Given the description of an element on the screen output the (x, y) to click on. 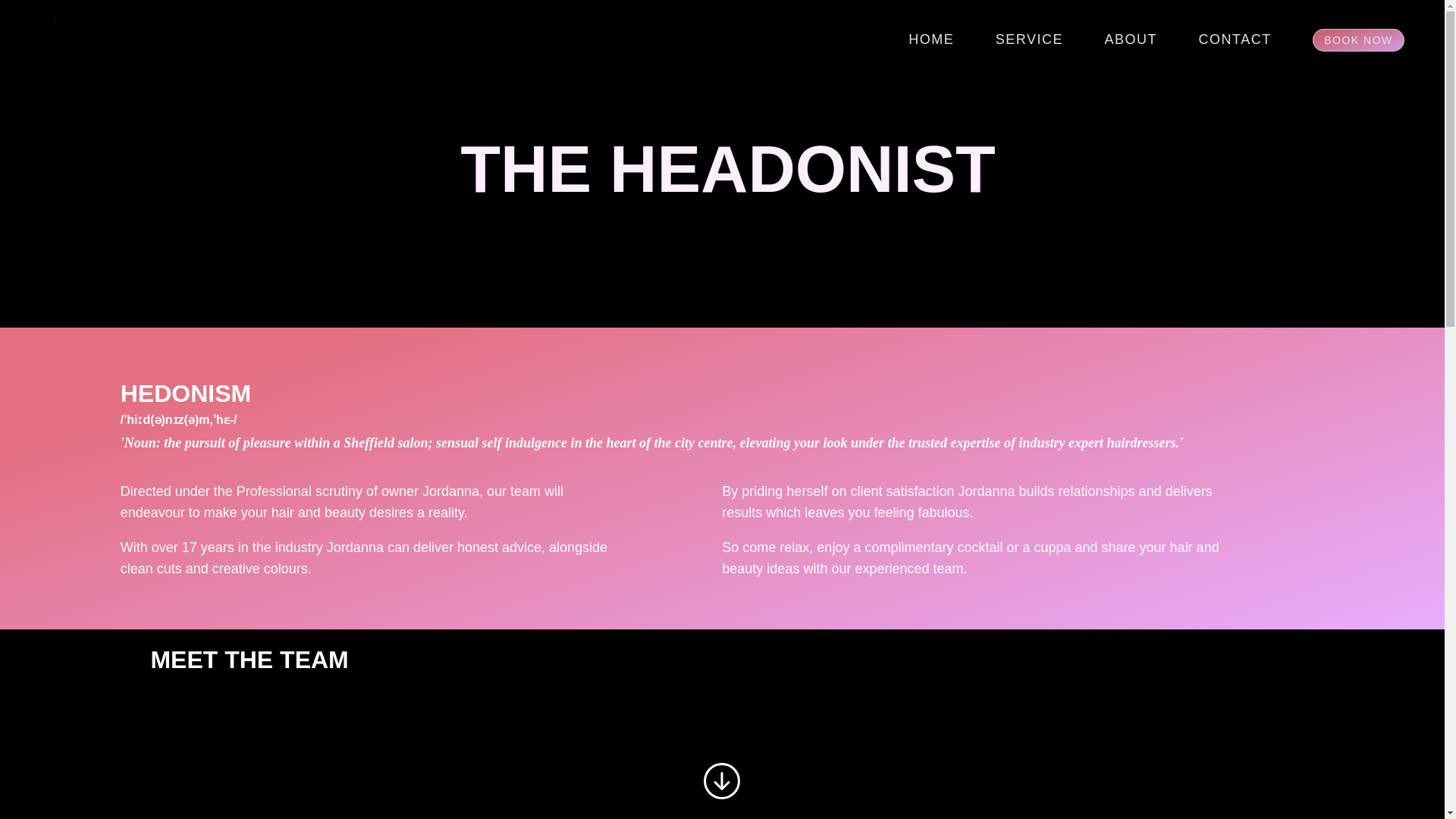
CONTACT (1234, 38)
SERVICE (1028, 38)
ABOUT (1131, 38)
HOME (930, 38)
BOOK NOW (1359, 39)
